Given the description of an element on the screen output the (x, y) to click on. 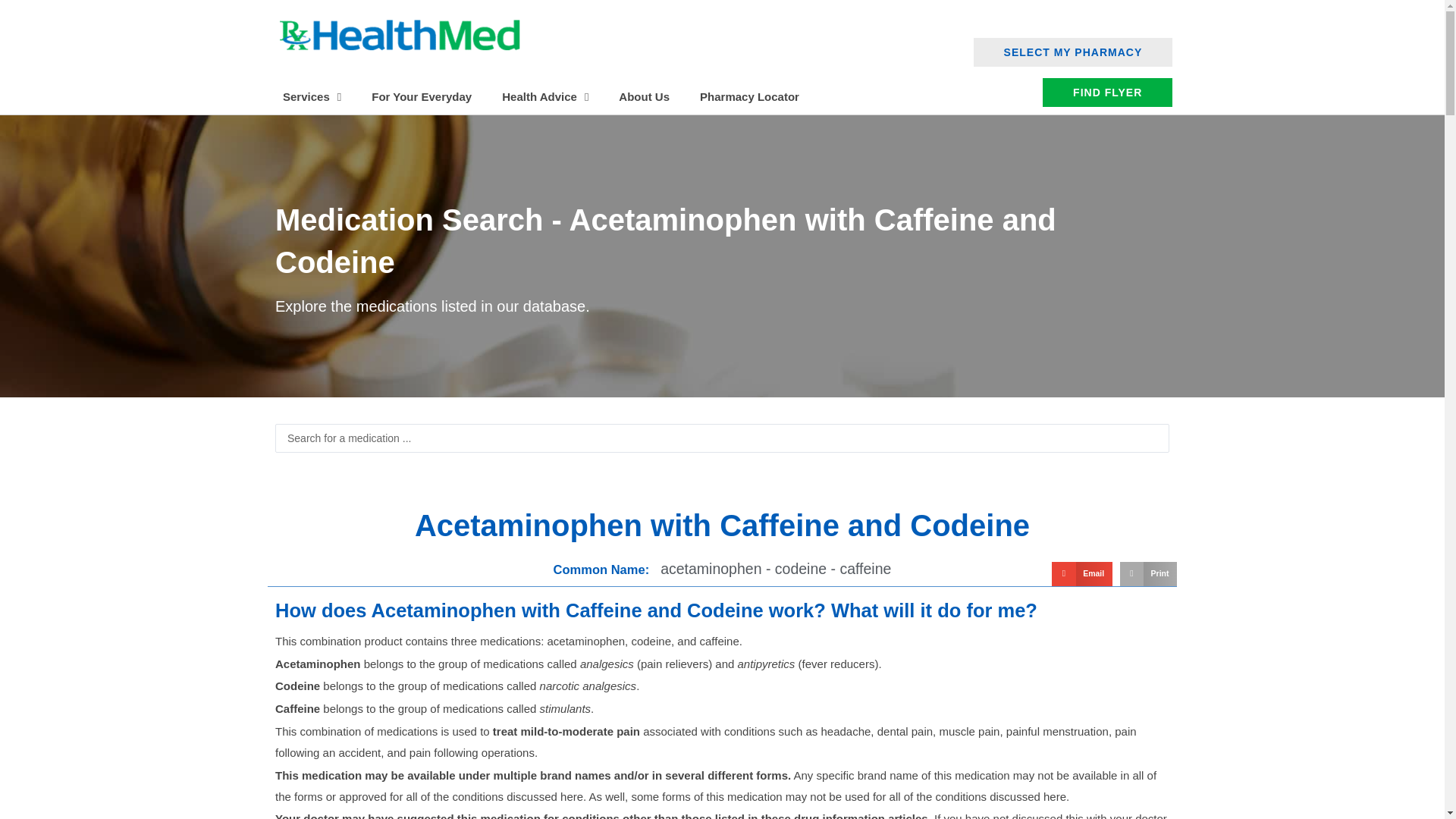
Services (311, 96)
FIND FLYER (1107, 92)
Pharmacy Locator (748, 96)
Health Advice (545, 96)
SELECT MY PHARMACY (1073, 51)
For Your Everyday (421, 96)
About Us (644, 96)
